Given the description of an element on the screen output the (x, y) to click on. 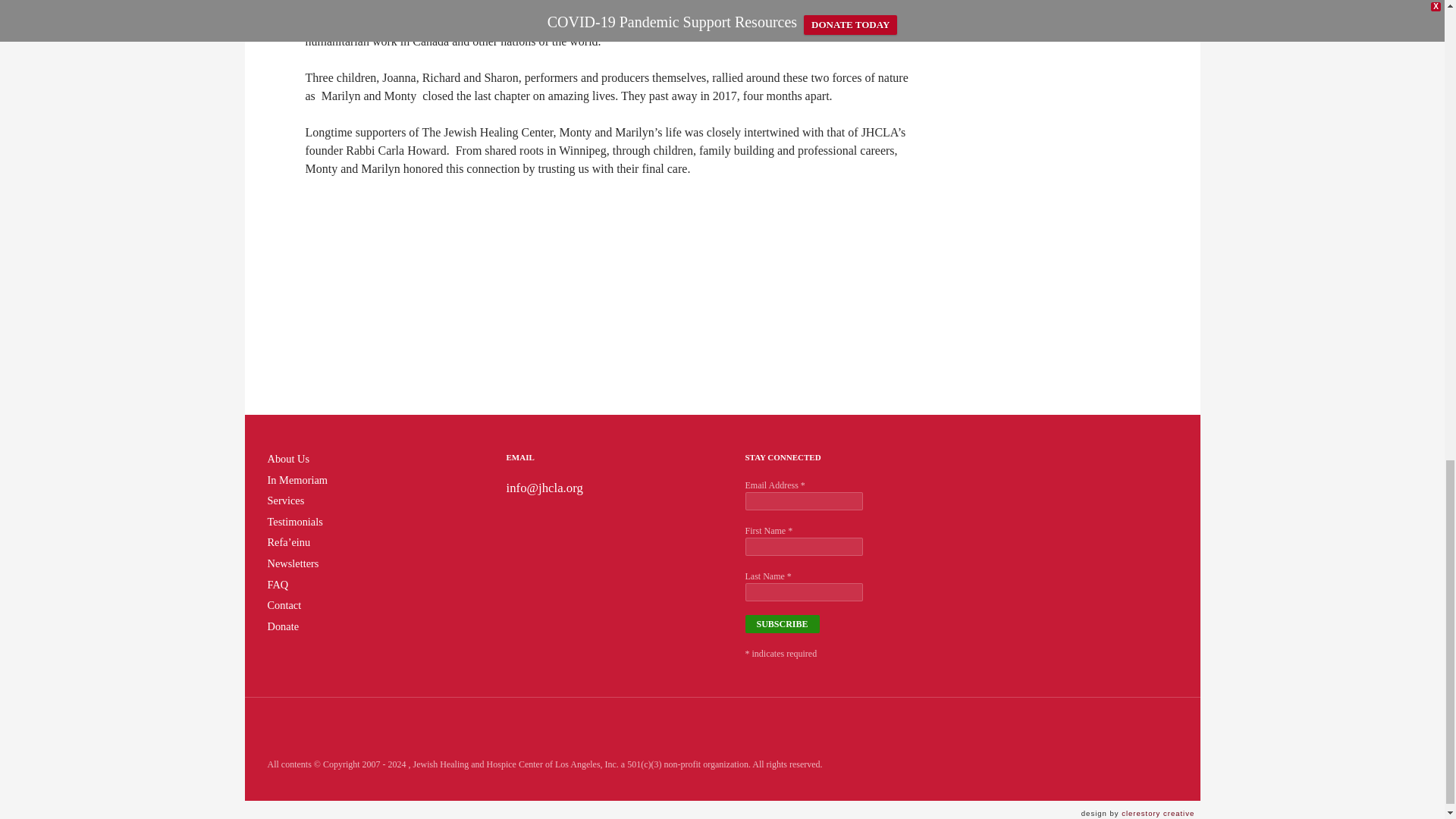
Subscribe (781, 624)
Contact (283, 604)
Testimonials (293, 521)
Services (285, 500)
clerestory creative   (1160, 813)
Donate (282, 625)
In Memoriam (296, 480)
Newsletters (292, 563)
FAQ (277, 584)
Subscribe (781, 624)
